Given the description of an element on the screen output the (x, y) to click on. 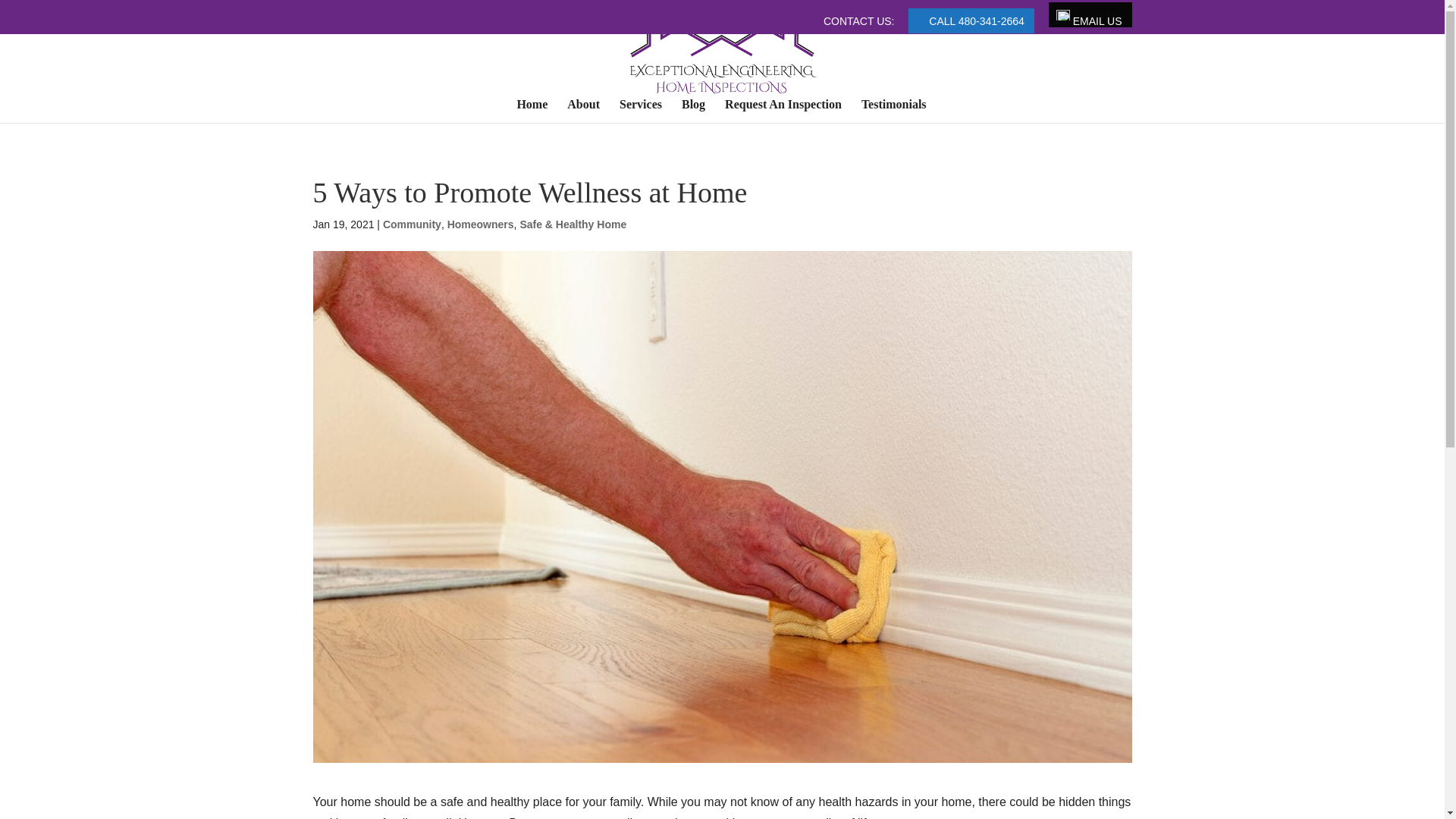
Services (641, 110)
Homeowners (479, 224)
CONTACT US: (859, 25)
Blog (692, 110)
Community (411, 224)
Home (531, 110)
Request An Inspection (783, 110)
EMAIL US (1089, 22)
Testimonials (893, 110)
CALL 480-341-2664 (969, 25)
